Given the description of an element on the screen output the (x, y) to click on. 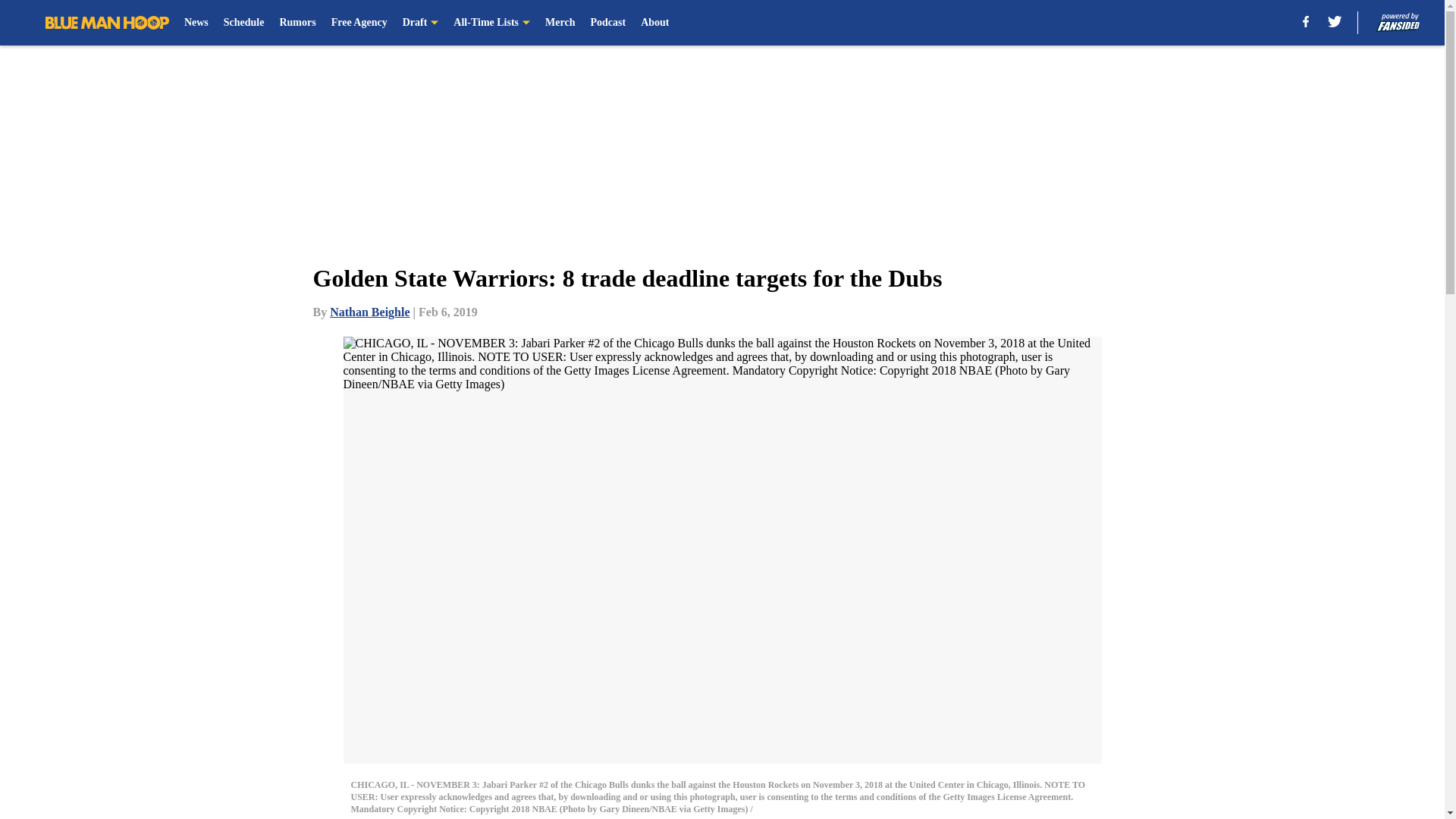
News (196, 22)
Rumors (297, 22)
All-Time Lists (490, 22)
Podcast (607, 22)
Nathan Beighle (369, 311)
Free Agency (359, 22)
Merch (559, 22)
Draft (421, 22)
About (654, 22)
Schedule (244, 22)
